Given the description of an element on the screen output the (x, y) to click on. 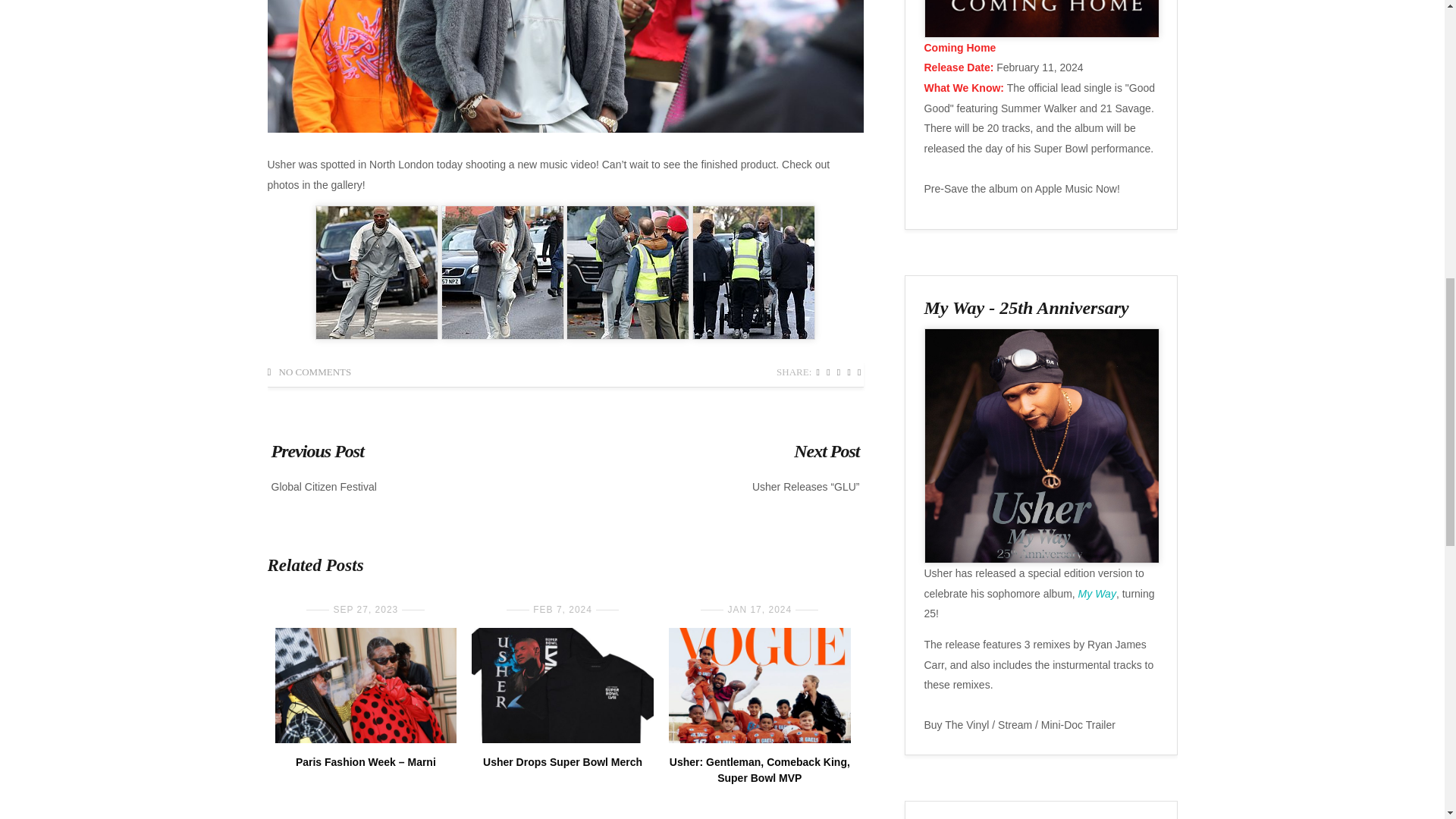
Global Citizen Festival (323, 486)
Usher: Gentleman, Comeback King, Super Bowl MVP (759, 769)
Usher Drops Super Bowl Merch (562, 761)
NO COMMENTS (315, 371)
